Given the description of an element on the screen output the (x, y) to click on. 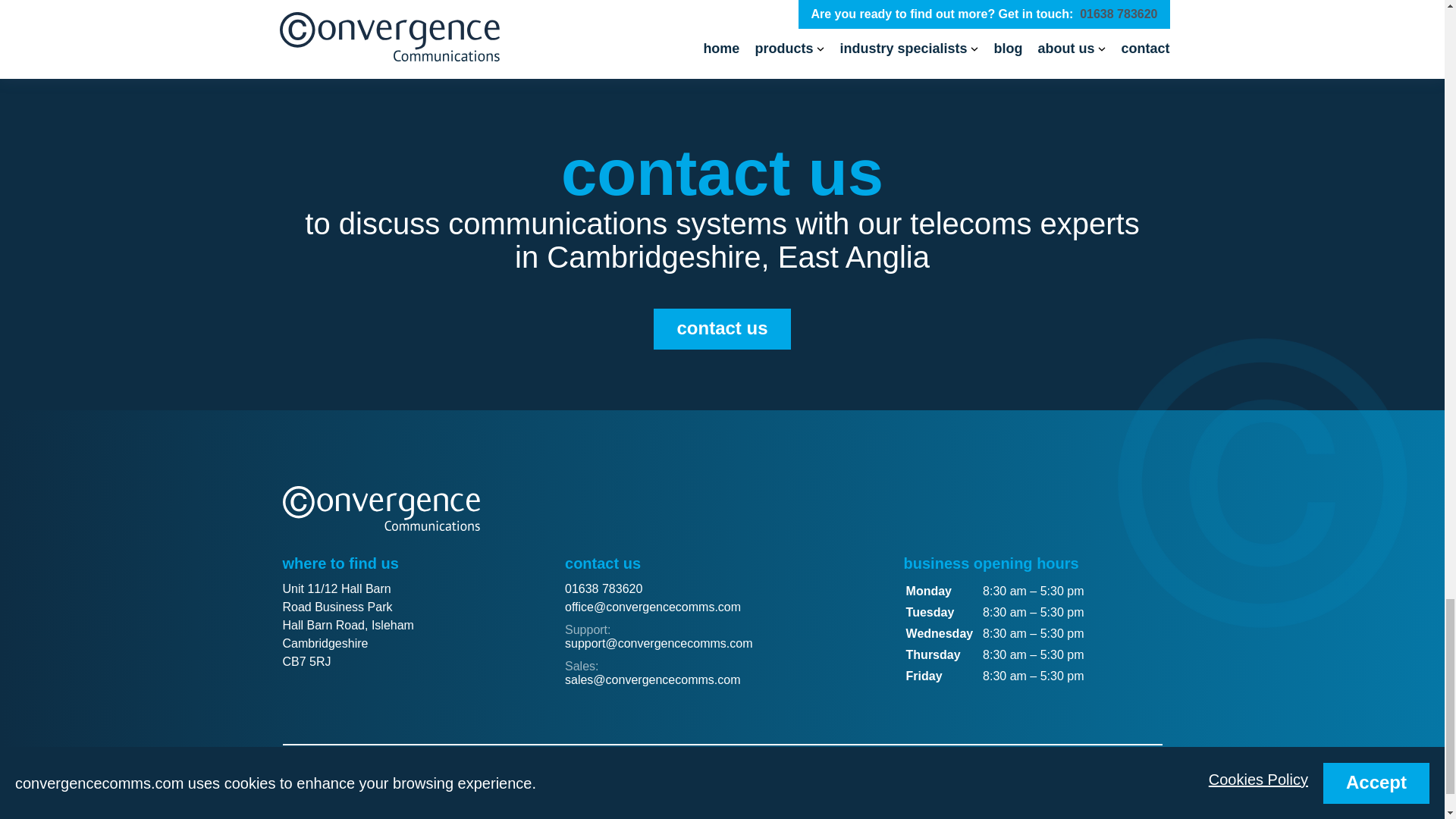
01638 783620 (603, 588)
TESTIMONIALS (379, 781)
BLOG (306, 781)
LEGAL (455, 781)
contact us (721, 329)
